Given the description of an element on the screen output the (x, y) to click on. 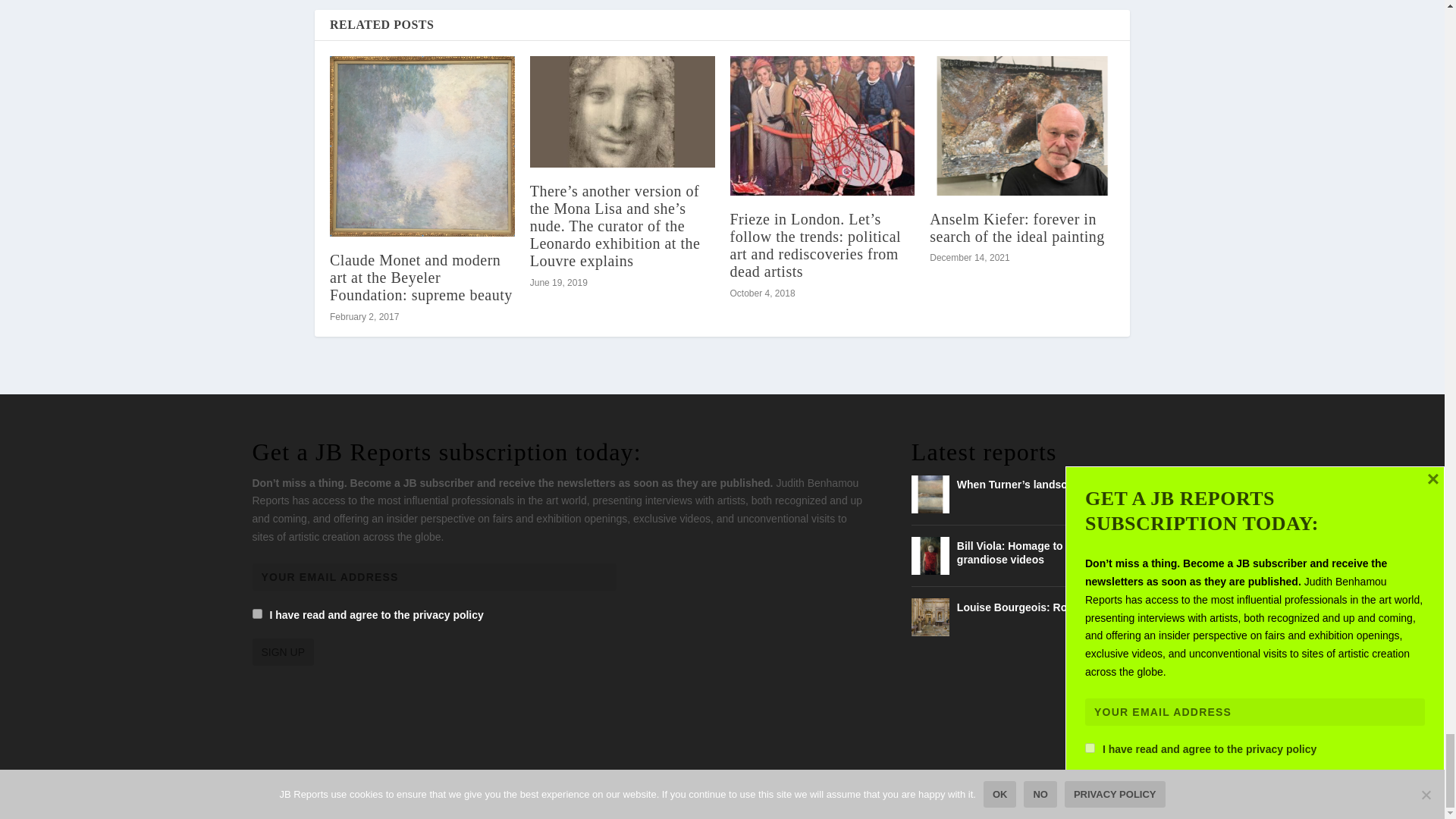
Sign up (282, 651)
1 (256, 614)
